Given the description of an element on the screen output the (x, y) to click on. 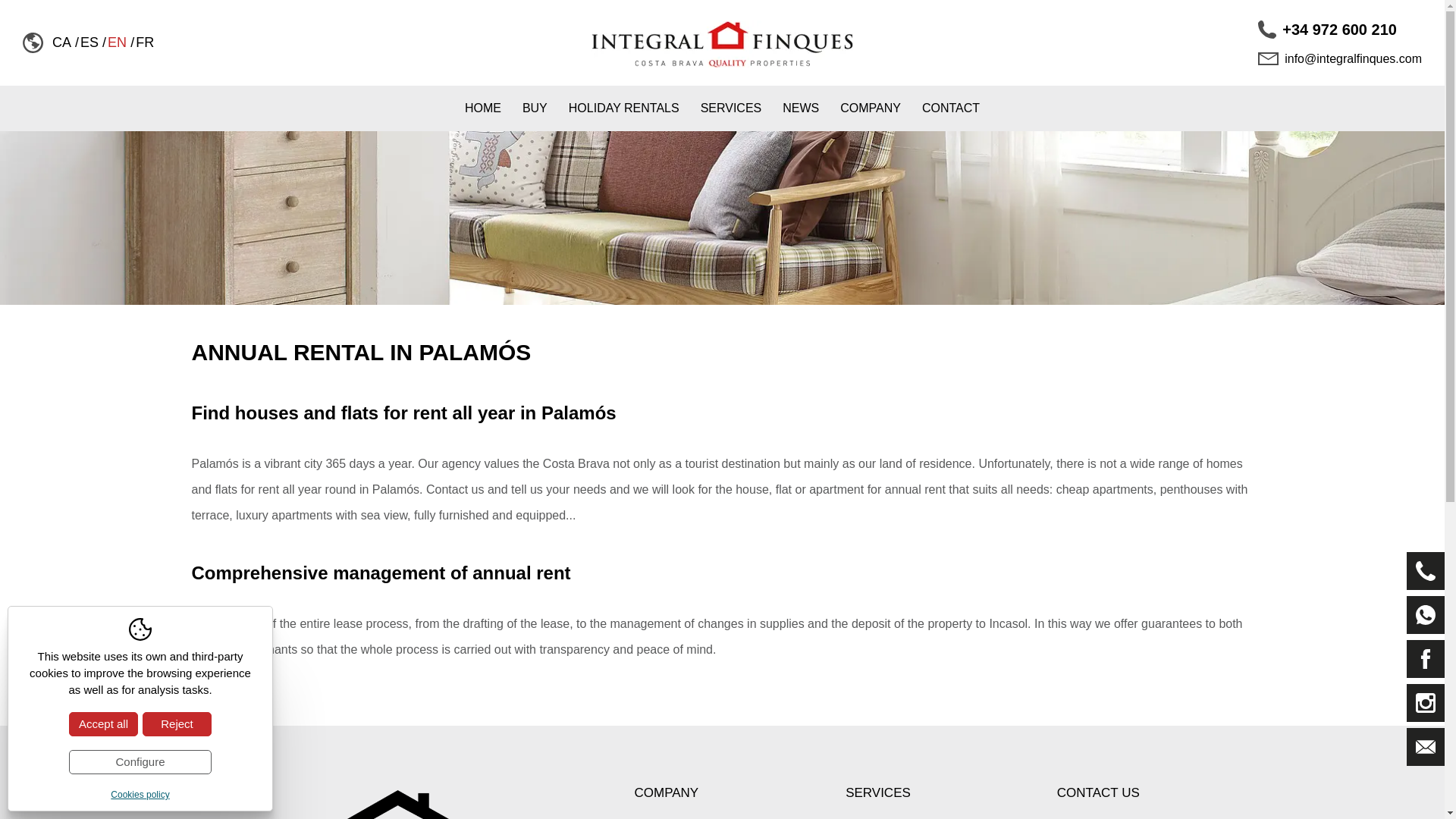
EN (116, 42)
FR (144, 42)
English (116, 42)
COMPANY (870, 108)
HOLIDAY RENTALS (623, 108)
ES (89, 42)
HOME (483, 108)
NEWS (800, 108)
SERVICES (731, 108)
CONTACT (950, 108)
BUY (534, 108)
CA (61, 42)
